Given the description of an element on the screen output the (x, y) to click on. 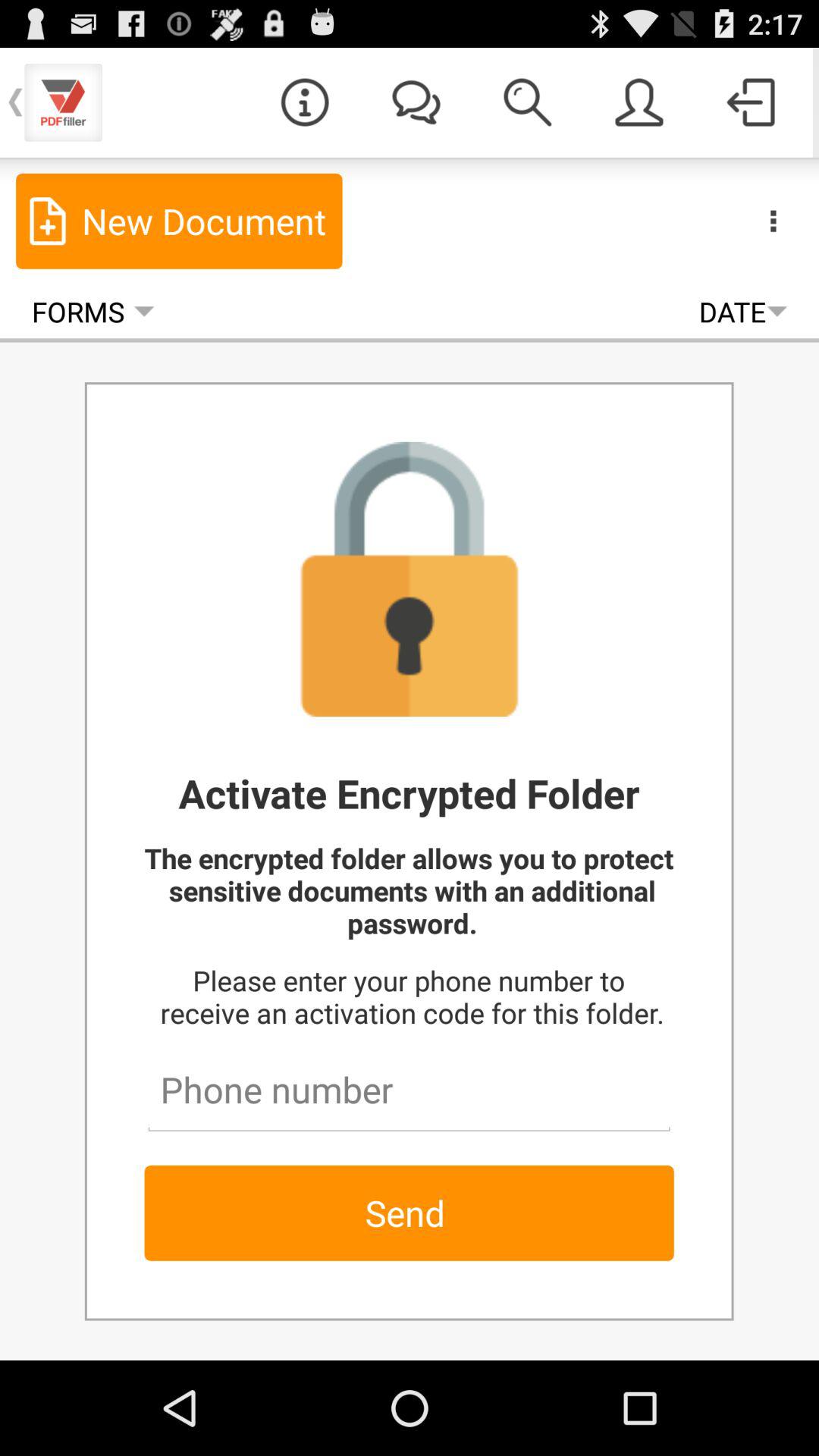
swipe to the send button (408, 1212)
